Given the description of an element on the screen output the (x, y) to click on. 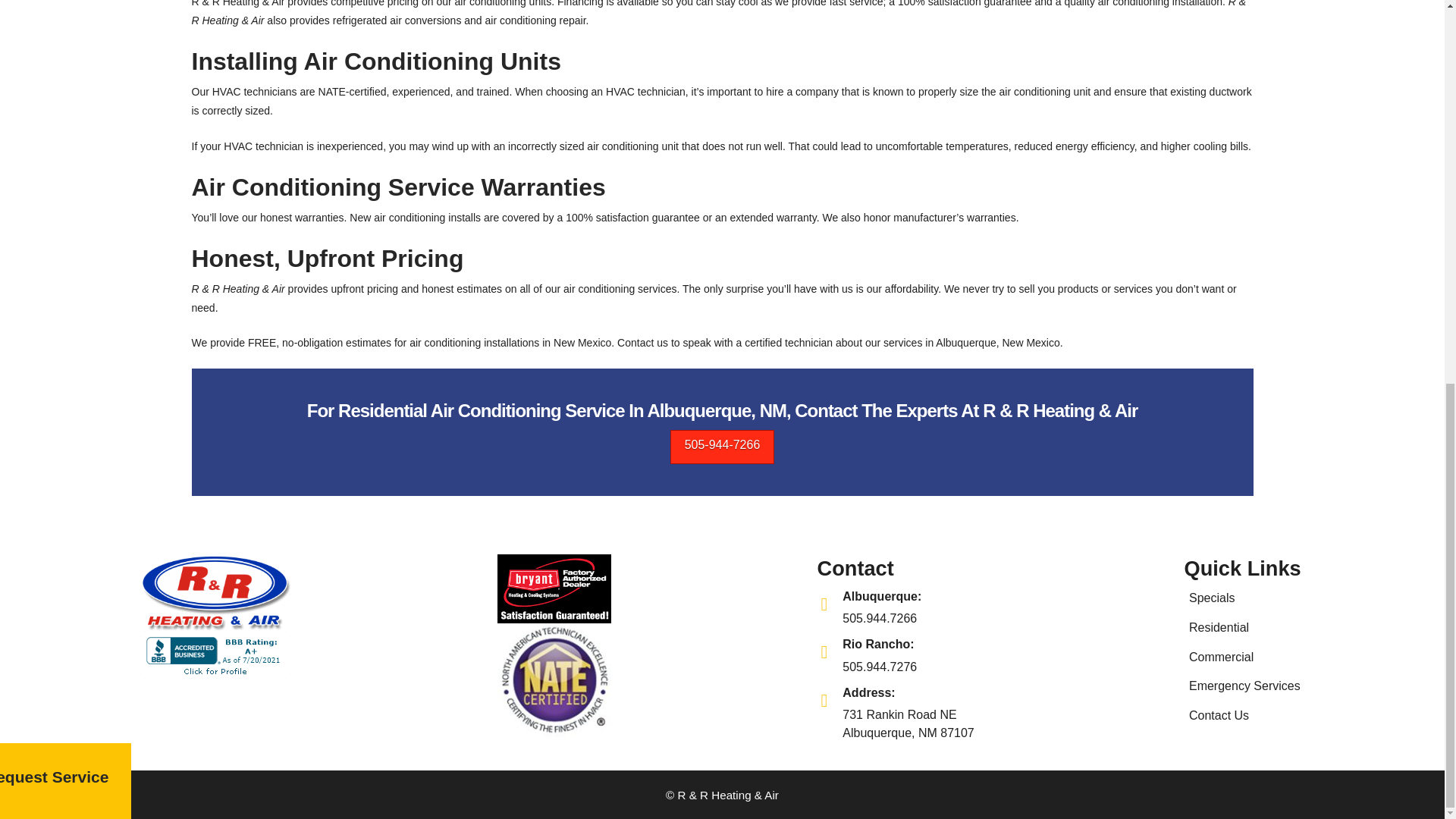
Emergency Services (1245, 686)
Residential (1245, 627)
Contact Us (1245, 716)
Specials (871, 607)
Commercial (1245, 598)
505-944-7266 (1245, 656)
